Given the description of an element on the screen output the (x, y) to click on. 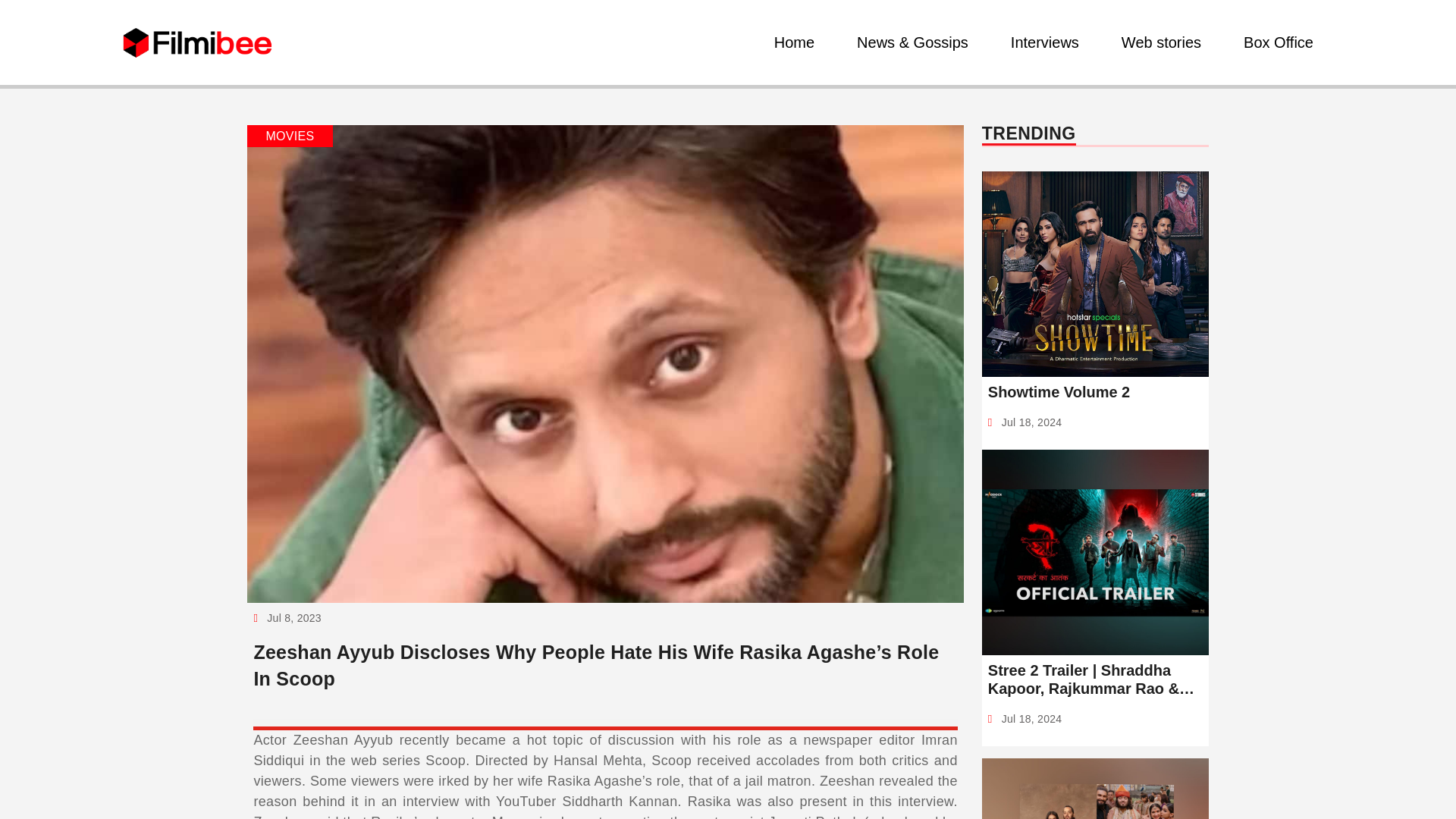
Web stories (1161, 42)
Box Office (1278, 42)
Interviews (1044, 42)
Showtime Volume 2 (1095, 392)
Home (794, 42)
